Given the description of an element on the screen output the (x, y) to click on. 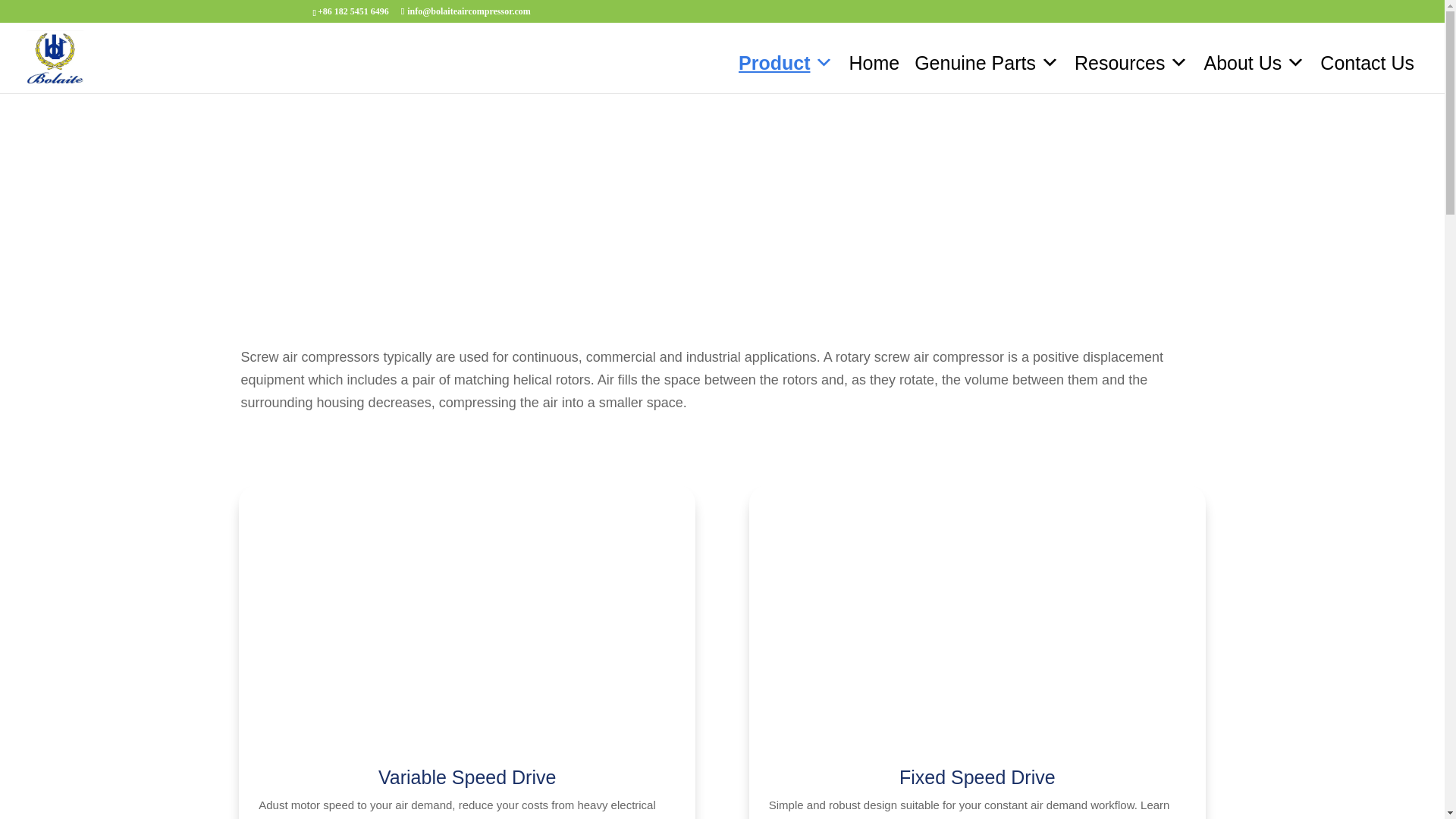
Home (874, 62)
About Us (1254, 62)
Contact Us (1367, 62)
Product (785, 62)
Resources (1131, 62)
Genuine Parts (987, 62)
